Given the description of an element on the screen output the (x, y) to click on. 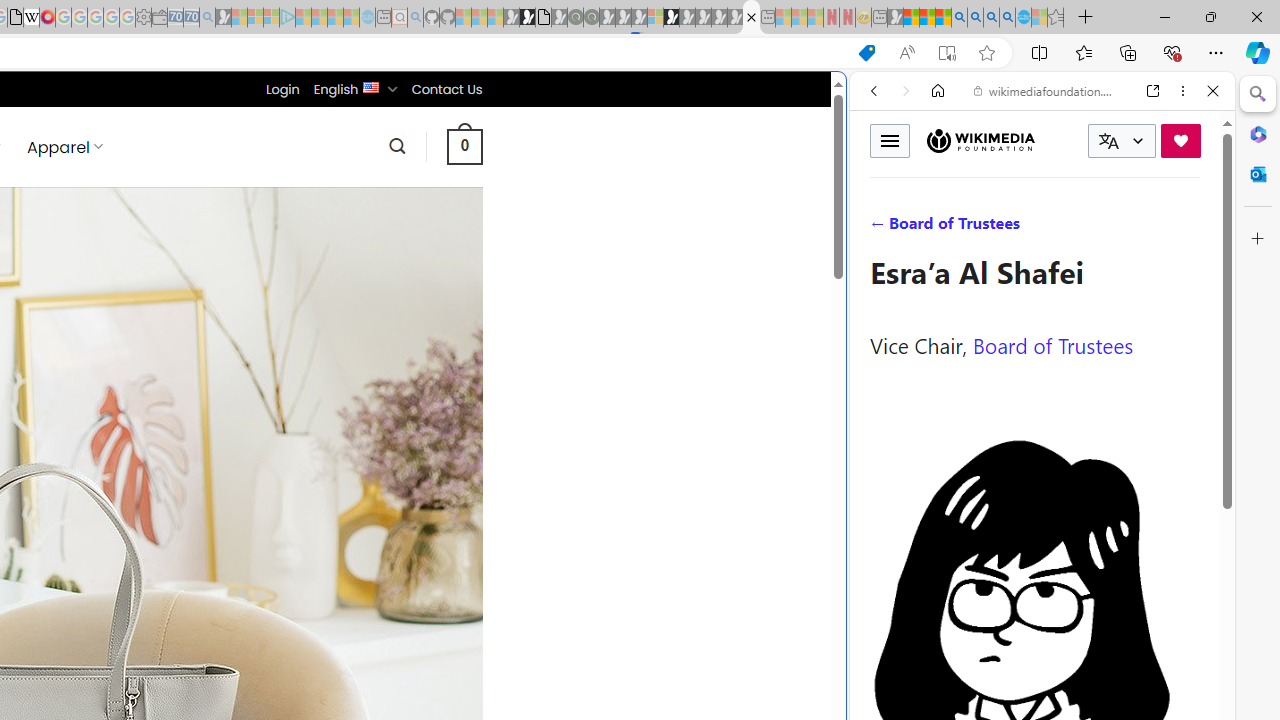
Close split screen (844, 102)
2009 Bing officially replaced Live Search on June 3 - Search (975, 17)
Target page - Wikipedia (31, 17)
SEARCH TOOLS (1093, 228)
Wikimedia Foundation (980, 141)
